Given the description of an element on the screen output the (x, y) to click on. 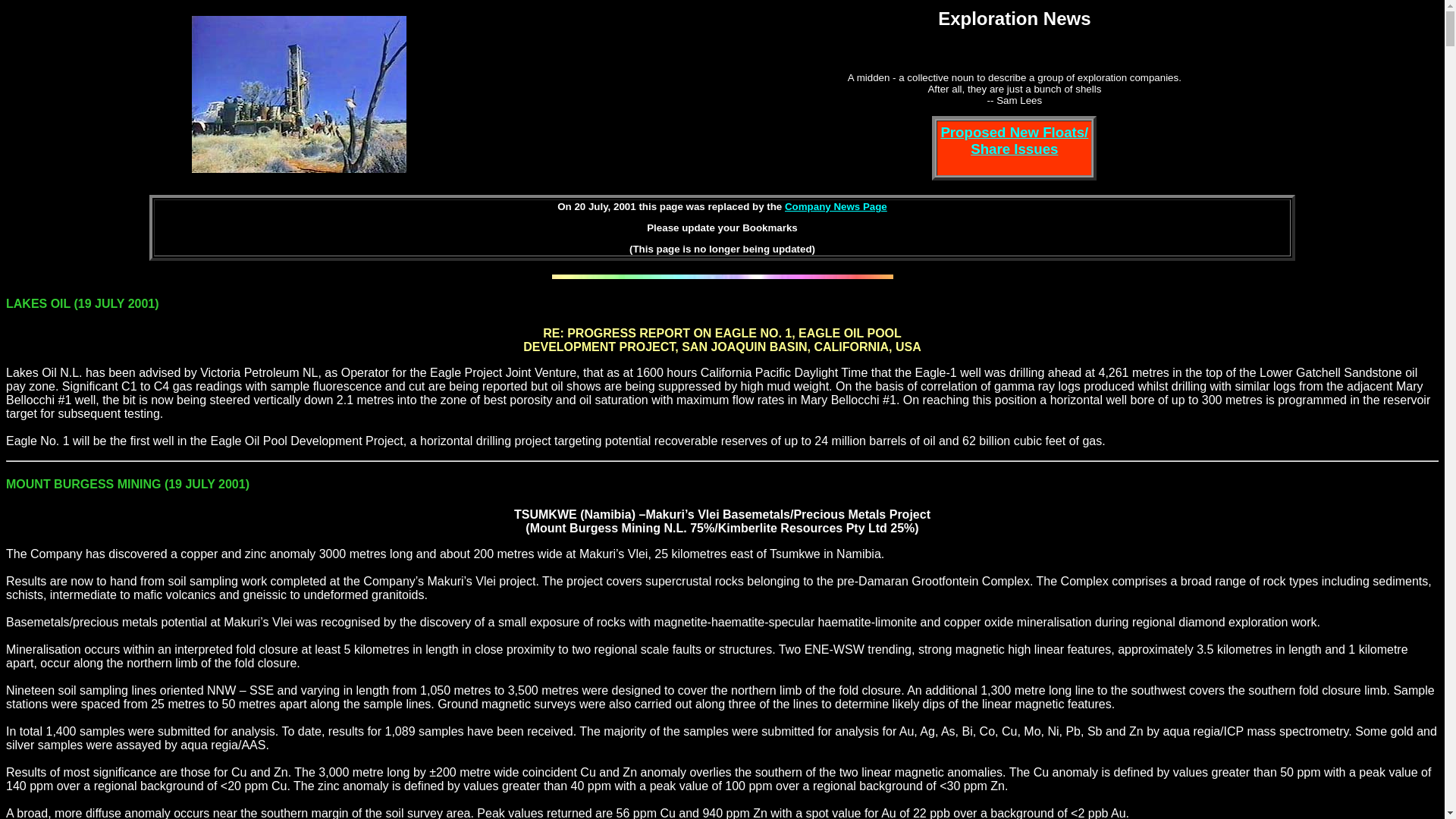
Proposed New Floats/
Share Issues Element type: text (1014, 140)
Company News Page Element type: text (835, 206)
